Given the description of an element on the screen output the (x, y) to click on. 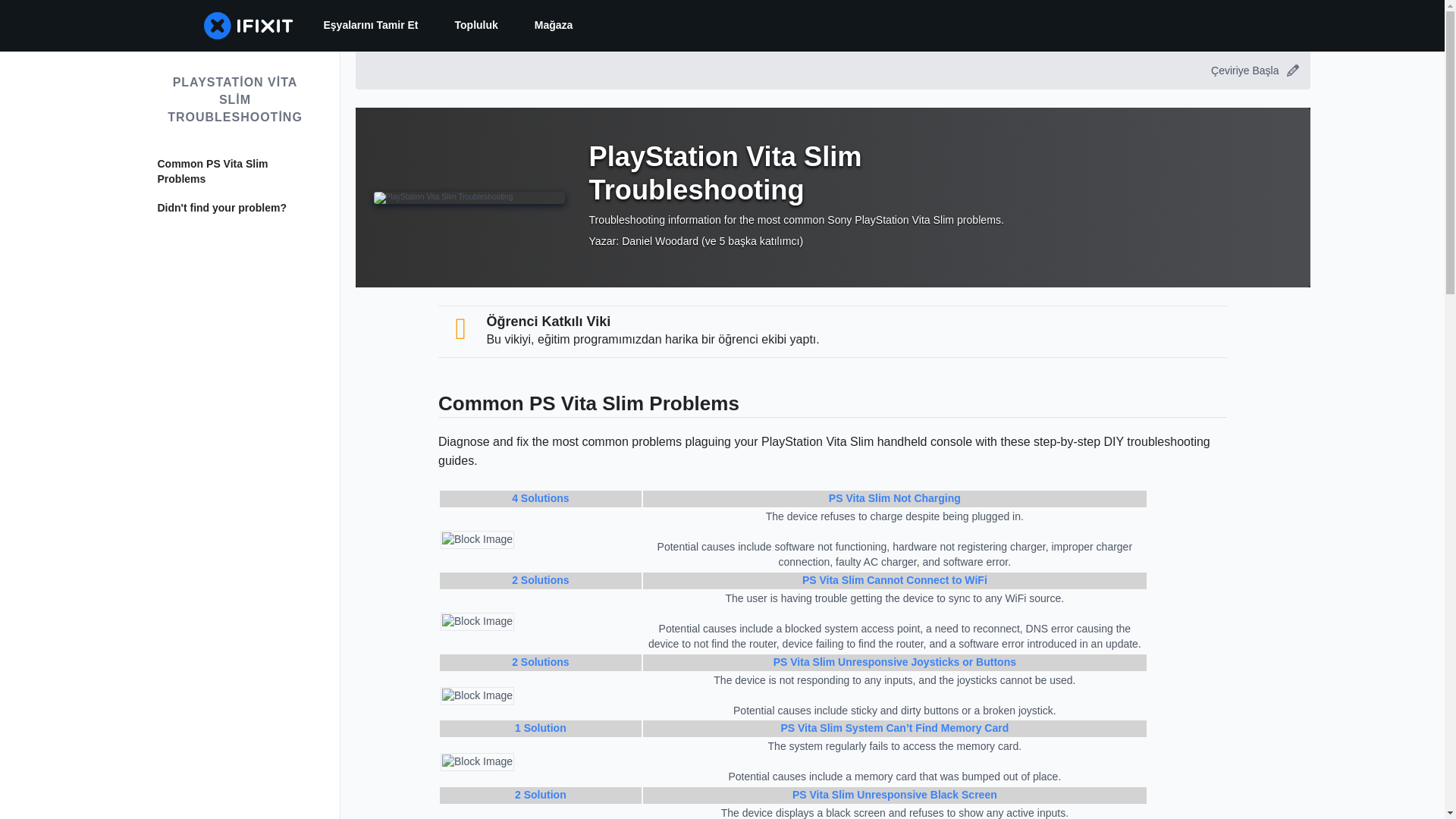
PS Vita Slim Unresponsive Black Screen (894, 794)
2 Solutions (540, 662)
2 Solutions (540, 580)
Topluluk (476, 25)
1 Solution (540, 727)
PLAYSTATION VITA SLIM TROUBLESHOOTING (234, 100)
PS Vita Slim Not Charging (894, 498)
Didn't find your problem? (235, 207)
PS Vita Slim Unresponsive Joysticks or Buttons (894, 662)
Daniel Woodard (659, 241)
